Given the description of an element on the screen output the (x, y) to click on. 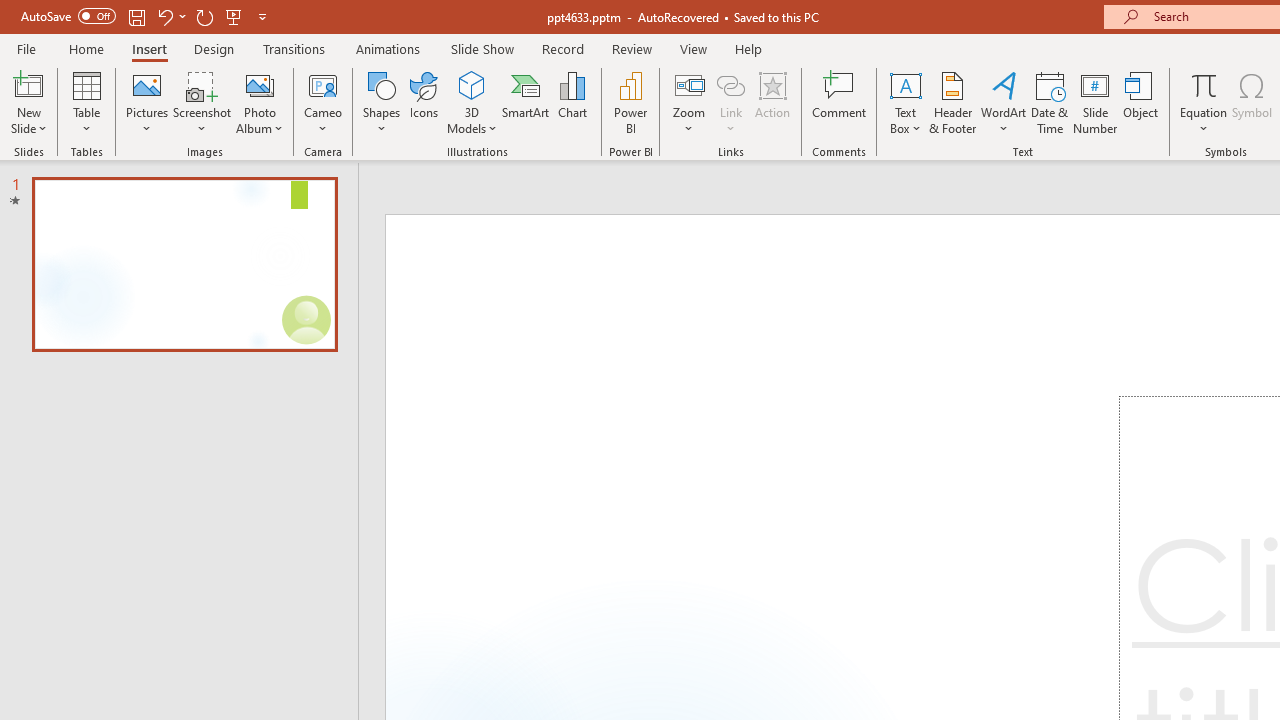
Symbol... (1252, 102)
WordArt (1004, 102)
3D Models (472, 84)
Draw Horizontal Text Box (905, 84)
Object... (1141, 102)
Slide Number (1095, 102)
